Given the description of an element on the screen output the (x, y) to click on. 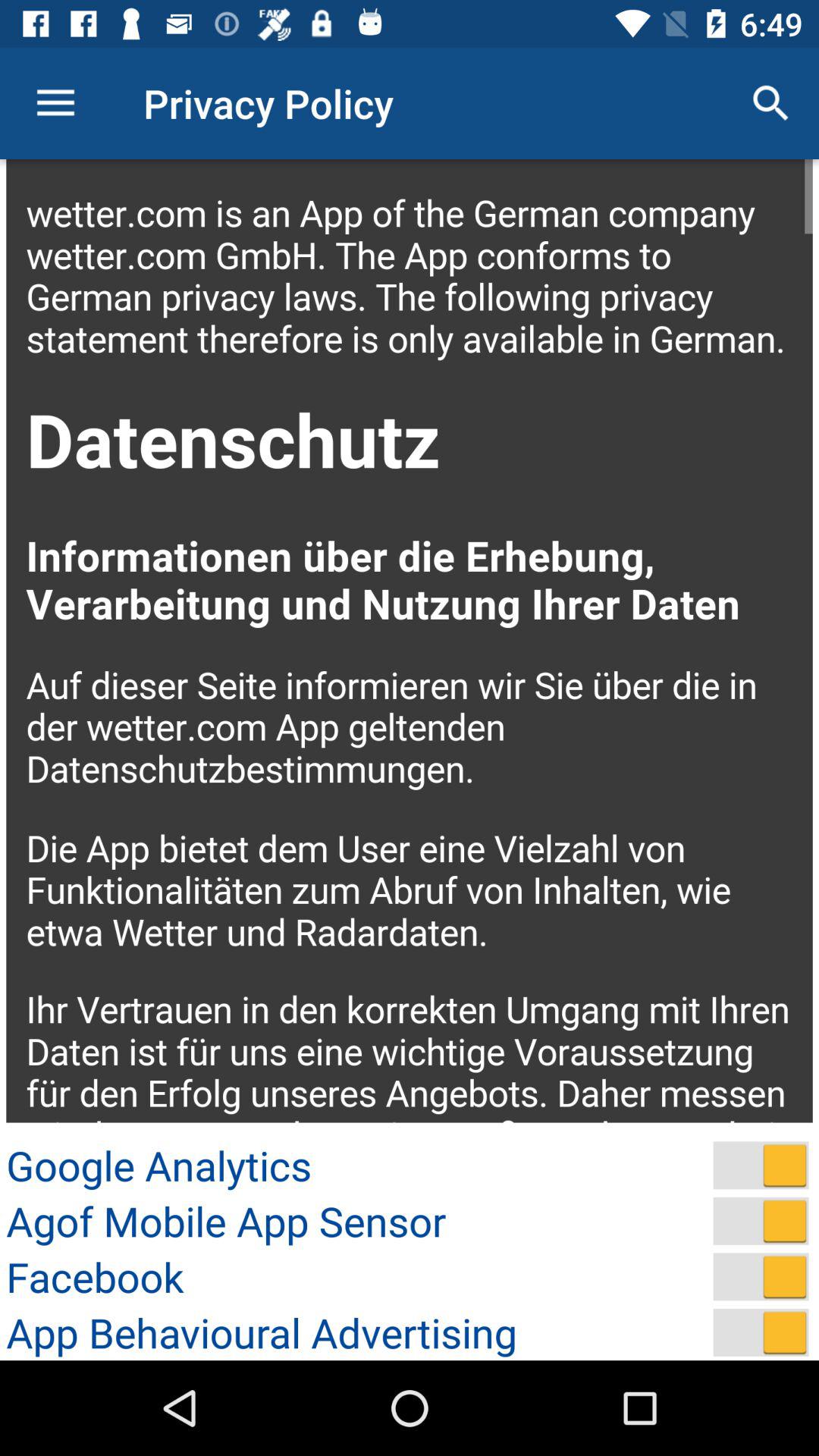
turn on agof mobile app sensor (760, 1220)
